Given the description of an element on the screen output the (x, y) to click on. 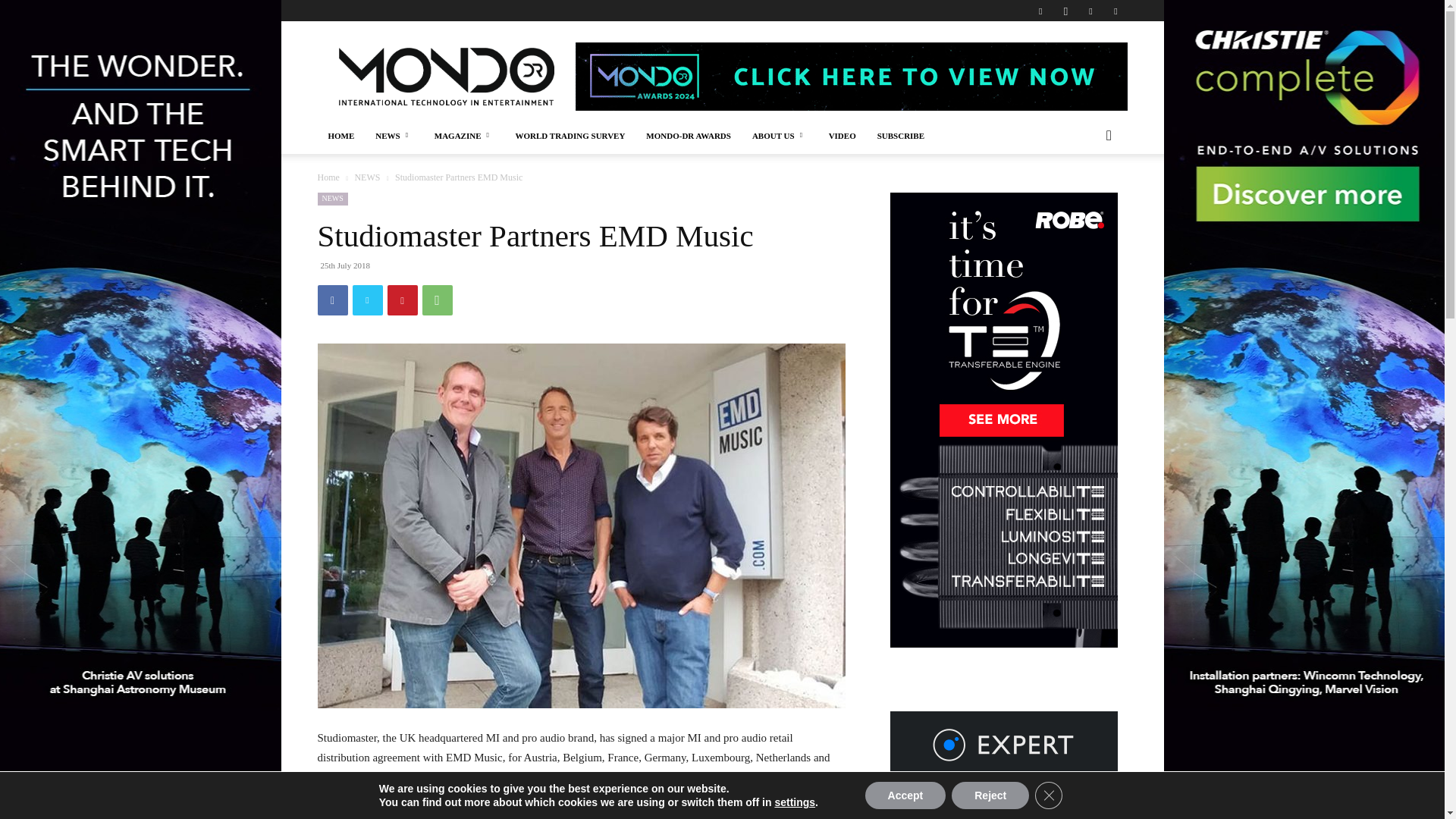
Facebook (1040, 10)
Facebook (332, 300)
Twitter (366, 300)
Linkedin (1090, 10)
Instagram (1065, 10)
MAGAZINE (464, 135)
NEWS (394, 135)
View all posts in NEWS (366, 176)
Twitter (1114, 10)
HOME (341, 135)
